Given the description of an element on the screen output the (x, y) to click on. 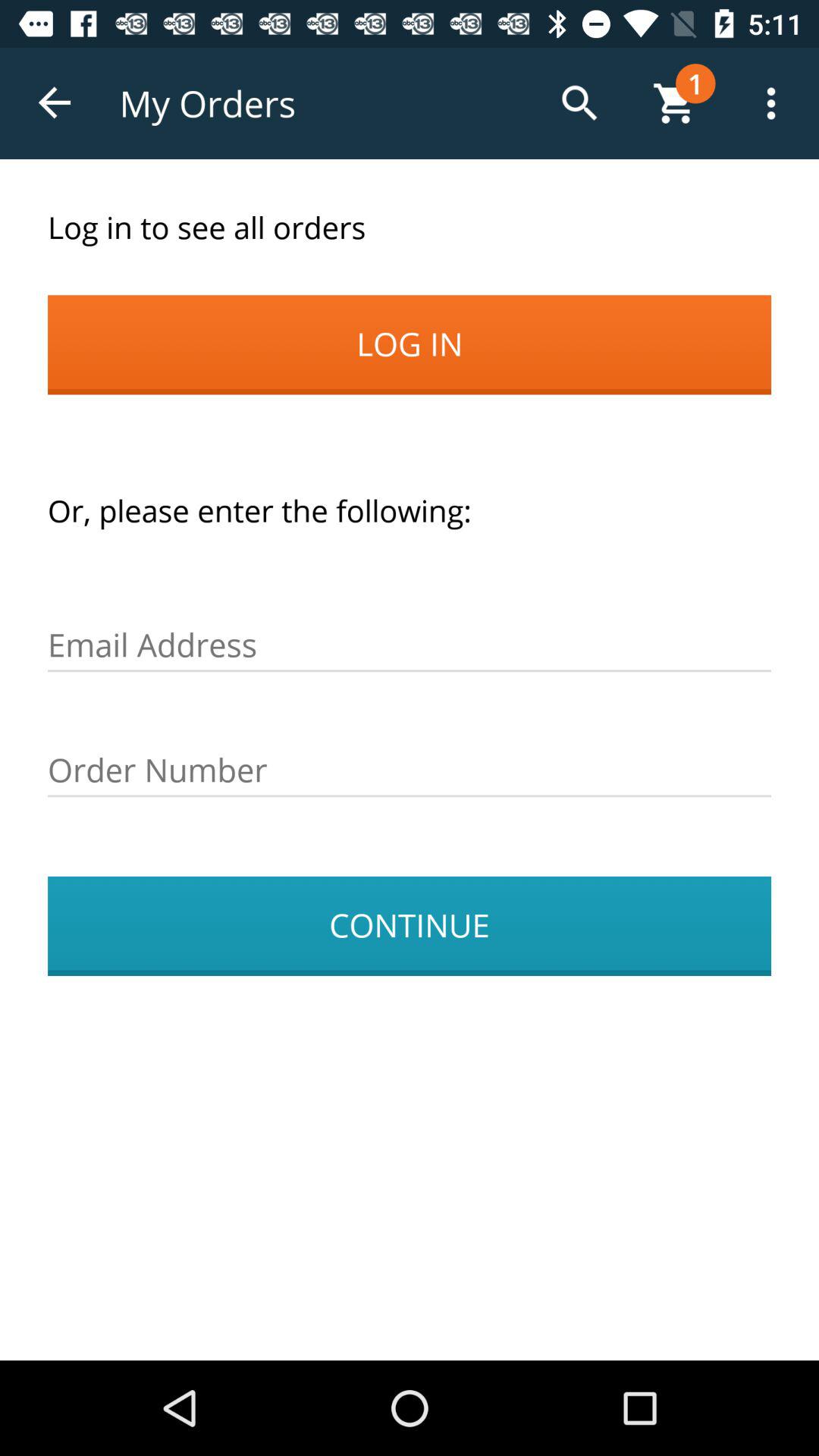
click continue (409, 925)
